Given the description of an element on the screen output the (x, y) to click on. 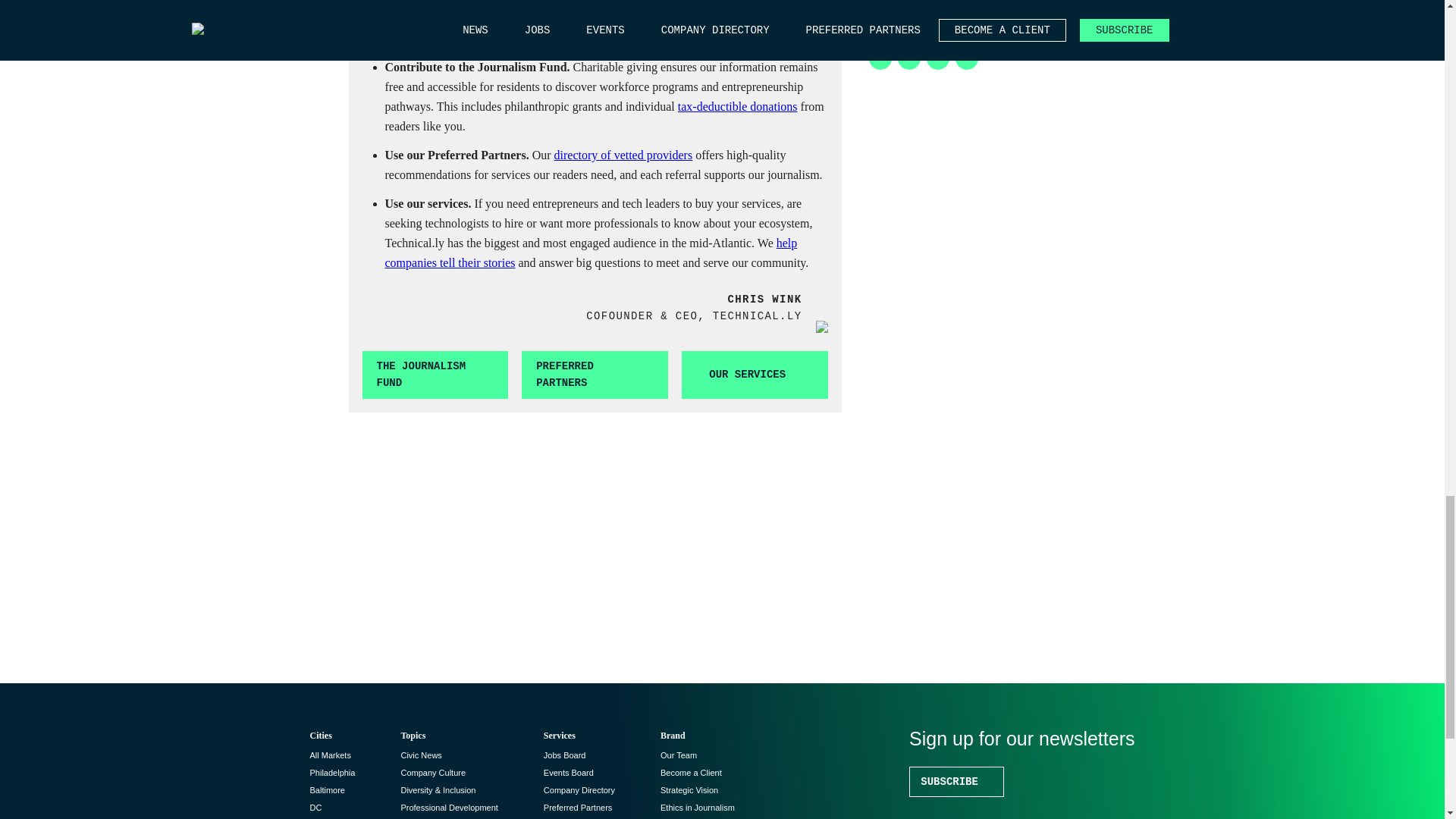
Share to LinkedIn (880, 57)
PREFERRED PARTNERS (594, 374)
Share to Twitter (909, 57)
help companies tell their stories (591, 252)
OUR SERVICES (754, 374)
directory of vetted providers (623, 154)
tax-deductible donations (737, 106)
All Markets (329, 755)
THE JOURNALISM FUND (435, 374)
Share to Facebook (937, 57)
Philadelphia (331, 772)
Share via Email (966, 57)
